Given the description of an element on the screen output the (x, y) to click on. 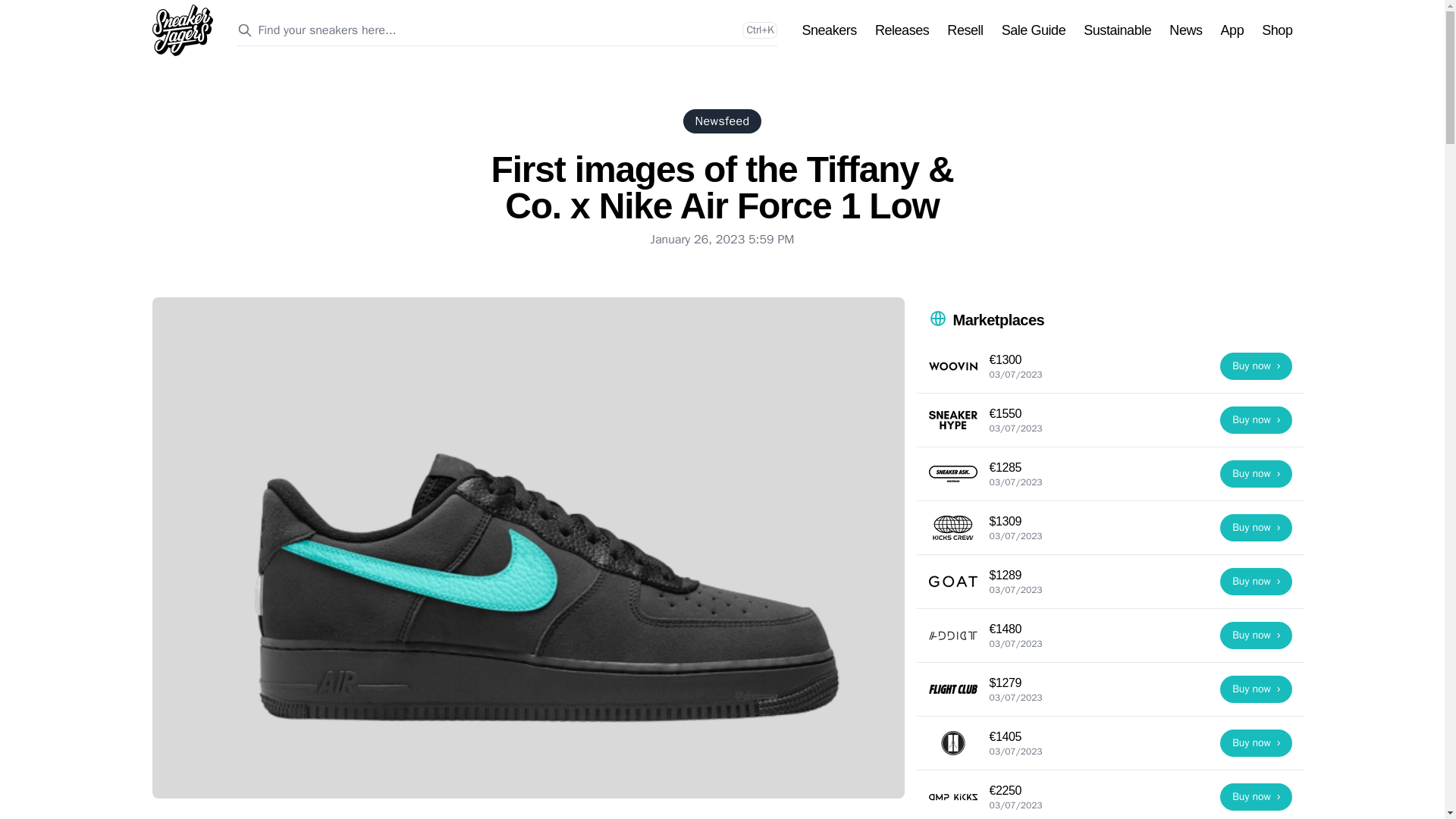
Sale Guide (1033, 30)
Sustainable (1117, 30)
News (1185, 30)
Newsfeed (721, 120)
App (1232, 30)
Sneakers (829, 30)
Shop (1277, 30)
Resell (964, 30)
Releases (901, 30)
